Given the description of an element on the screen output the (x, y) to click on. 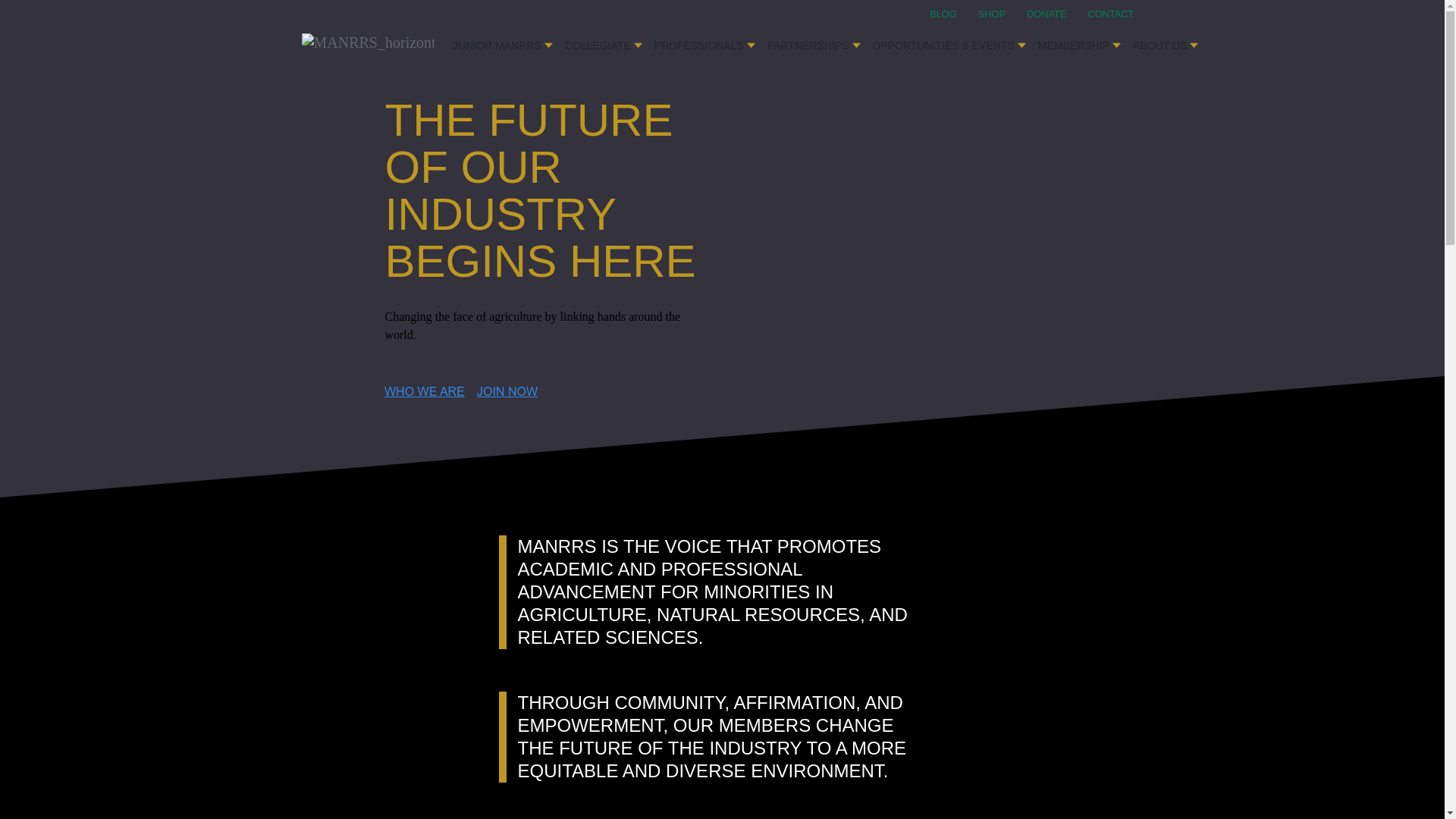
BLOG (952, 13)
SHOP (1000, 13)
MEMBERSHIP (1079, 40)
PROFESSIONALS (704, 40)
CONTACT (1110, 13)
COLLEGIATE (603, 40)
DONATE (1055, 13)
PARTNERSHIPS (813, 40)
JUNIOR MANRRS (502, 40)
